Given the description of an element on the screen output the (x, y) to click on. 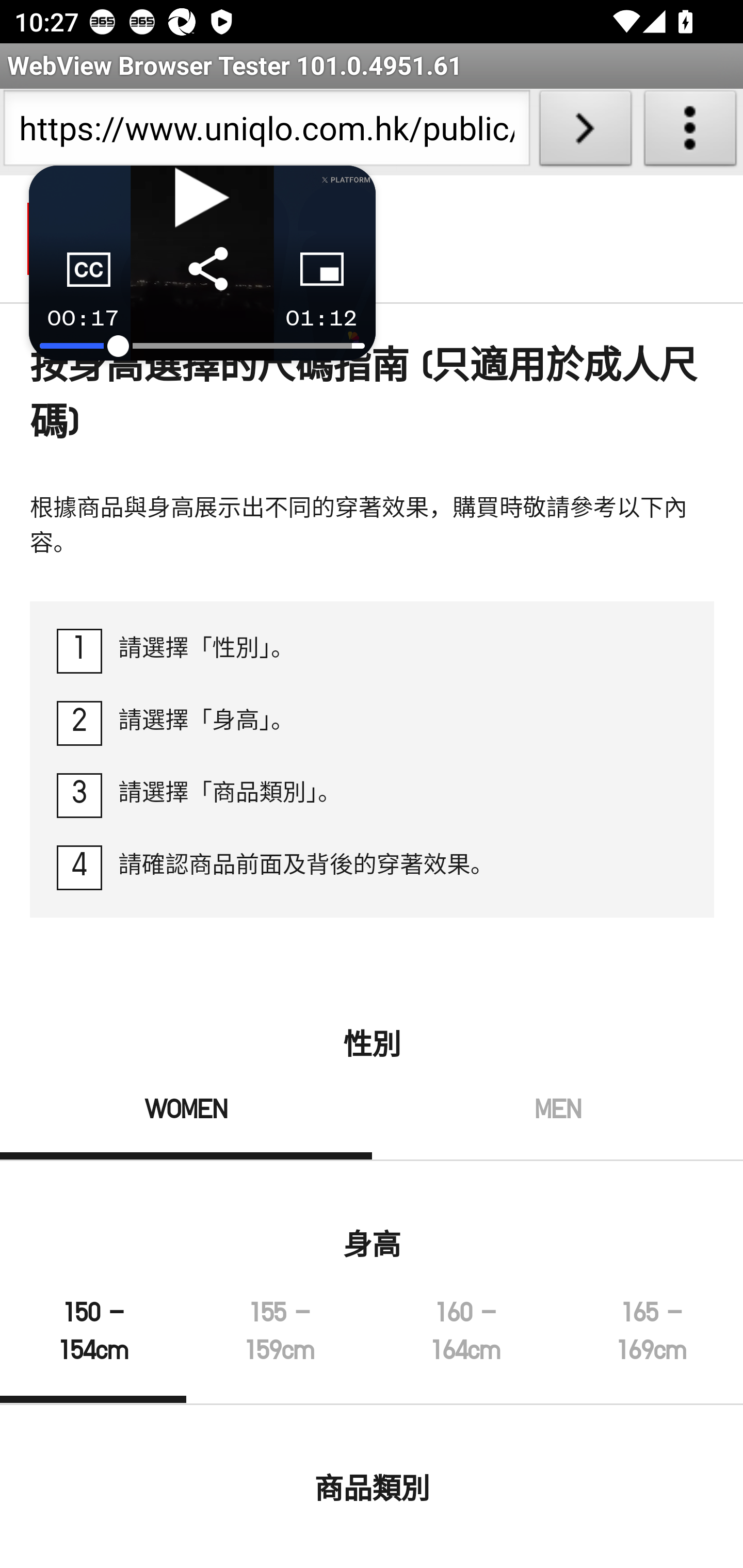
Load URL (585, 132)
About WebView (690, 132)
WOMEN (186, 1128)
MEN (557, 1128)
150 -
154cm (93, 1349)
155 -
159cm (278, 1349)
160 -
164cm (465, 1349)
165 -
169cm (649, 1349)
